Given the description of an element on the screen output the (x, y) to click on. 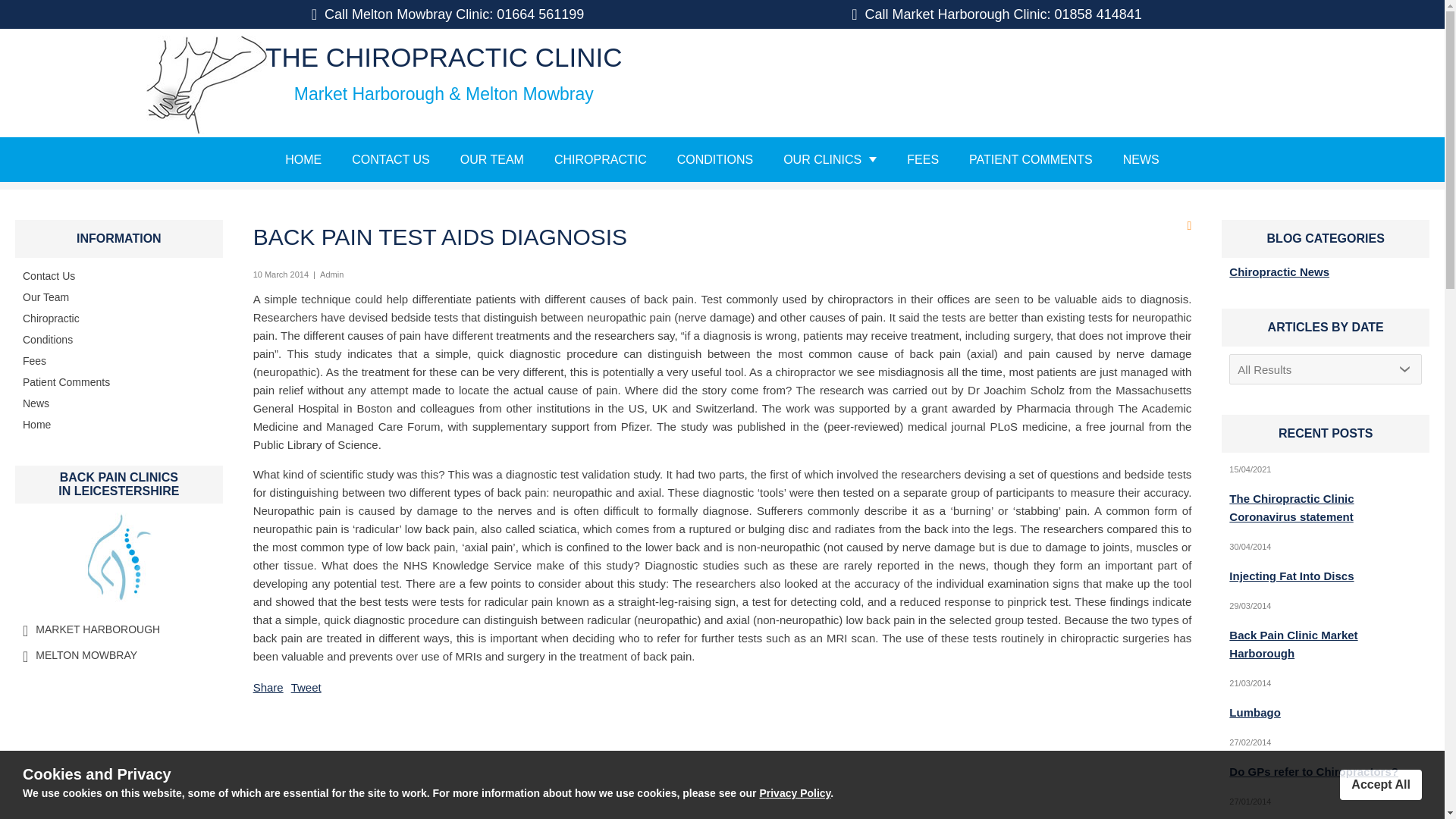
Back Pain Clinic Market Harborough (1292, 644)
The Chiropractic Clinic Coronavirus statement (1291, 507)
Patient Comments (66, 381)
Injecting Fat Into Discs (1291, 575)
Do GPs refer to Chiropractors? (1312, 771)
Home (36, 424)
MELTON MOWBRAY (85, 654)
Do GPs refer to Chiropractors? (1403, 174)
Contact Us (49, 275)
MARKET HARBOROUGH (97, 629)
News (36, 403)
Lumbago (1254, 712)
Tweet (306, 686)
Our Team (45, 297)
Share (268, 686)
